Given the description of an element on the screen output the (x, y) to click on. 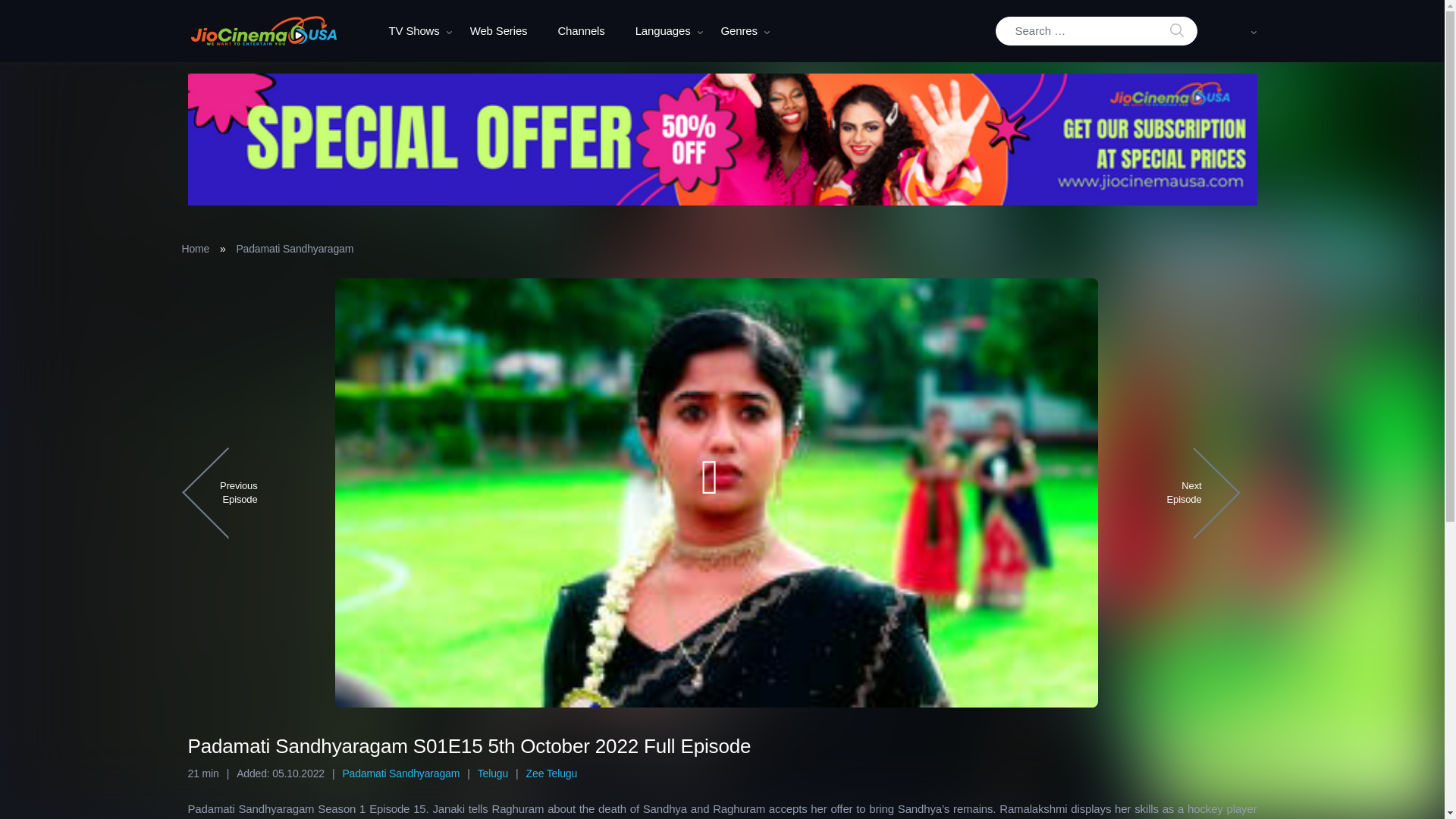
Genres (739, 31)
Channels (580, 31)
Web Series (498, 31)
Languages (663, 31)
TV Shows (413, 31)
Padamati Sandhyaragam S01E15 5th October 2022 Full Episode (263, 30)
